Given the description of an element on the screen output the (x, y) to click on. 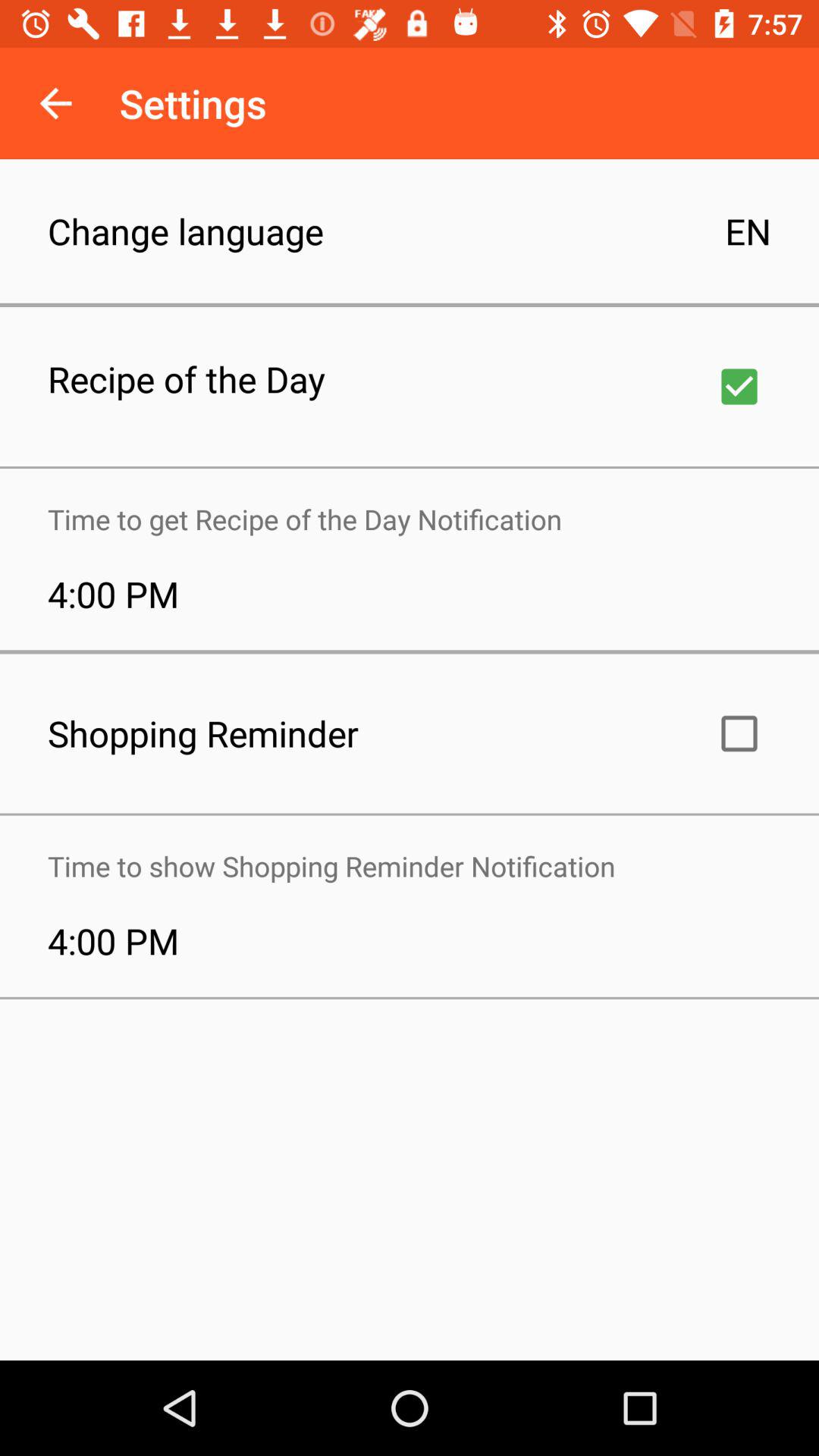
toggle for receiving recipe of the day (739, 386)
